Given the description of an element on the screen output the (x, y) to click on. 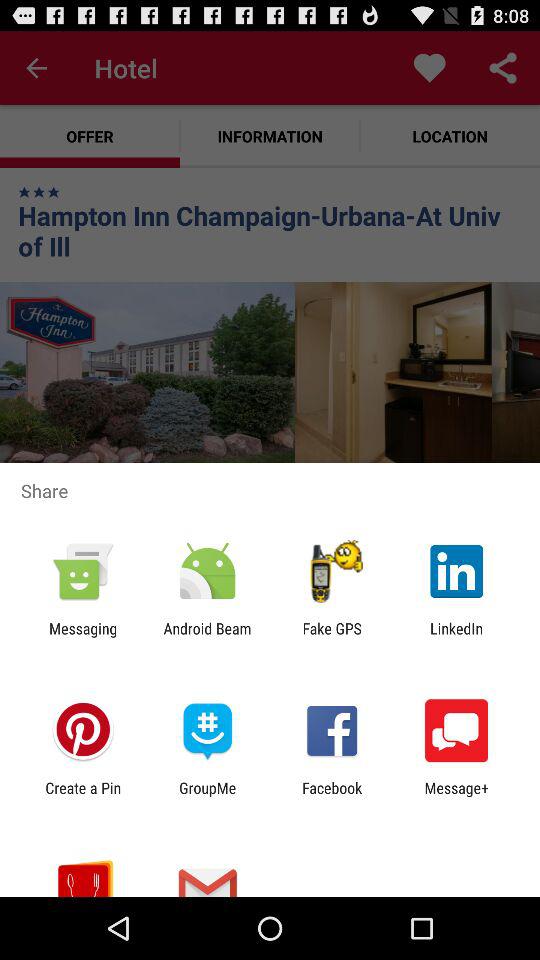
tap the create a pin app (83, 796)
